Given the description of an element on the screen output the (x, y) to click on. 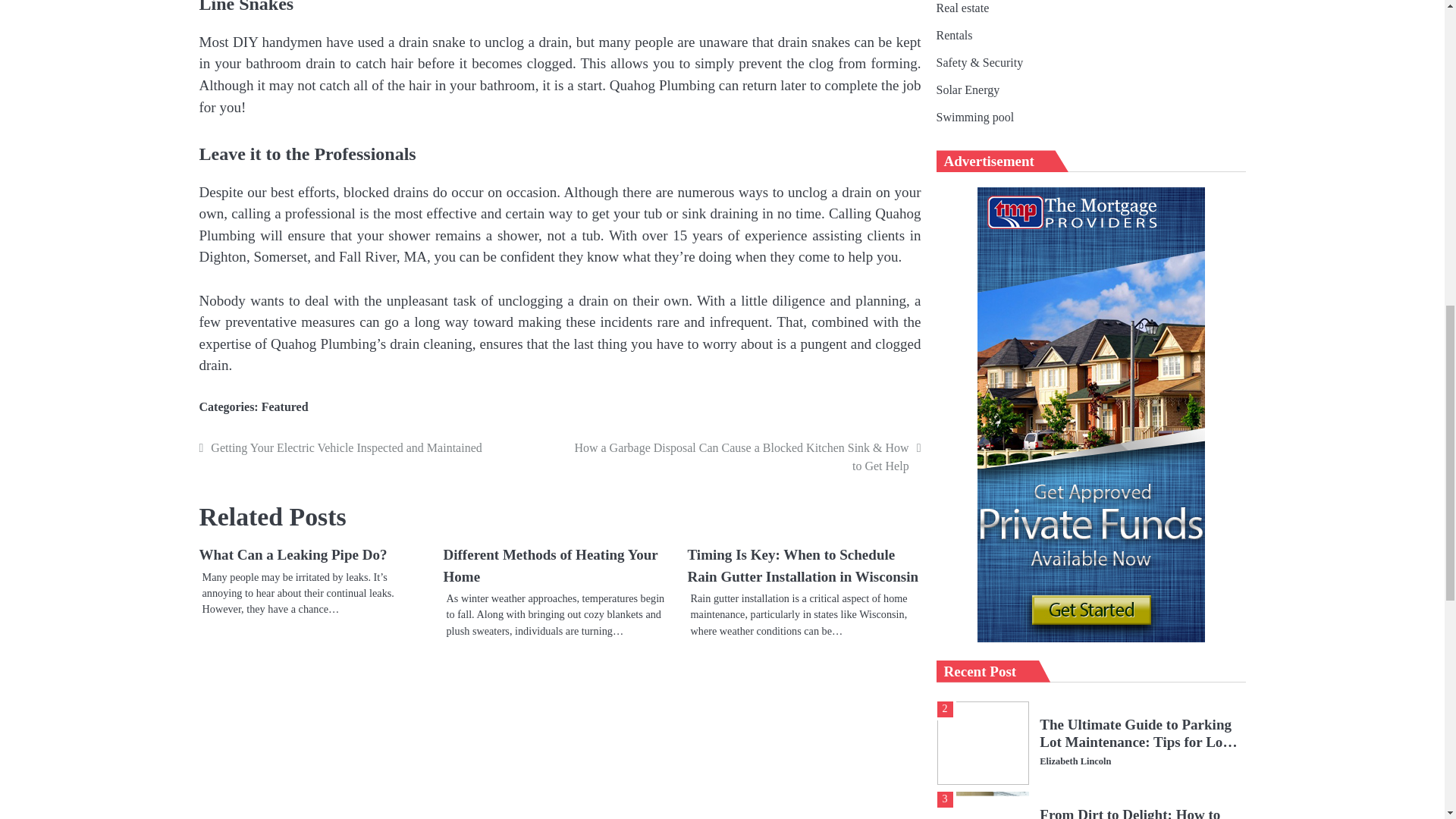
Getting Your Electric Vehicle Inspected and Maintained (377, 447)
Featured (285, 406)
What Can a Leaking Pipe Do? (292, 554)
Different Methods of Heating Your Home (550, 565)
